Given the description of an element on the screen output the (x, y) to click on. 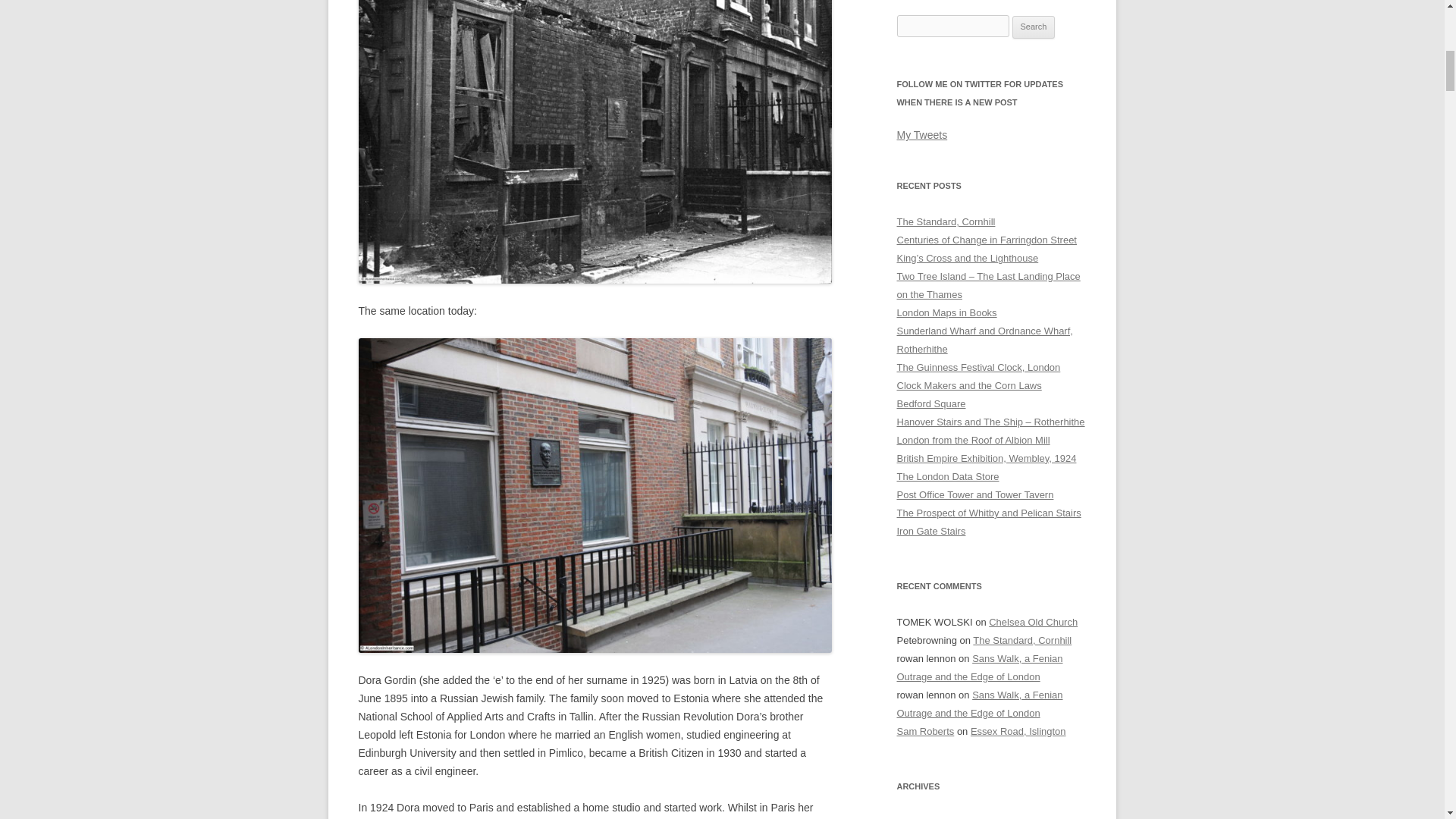
Search (1033, 26)
